Given the description of an element on the screen output the (x, y) to click on. 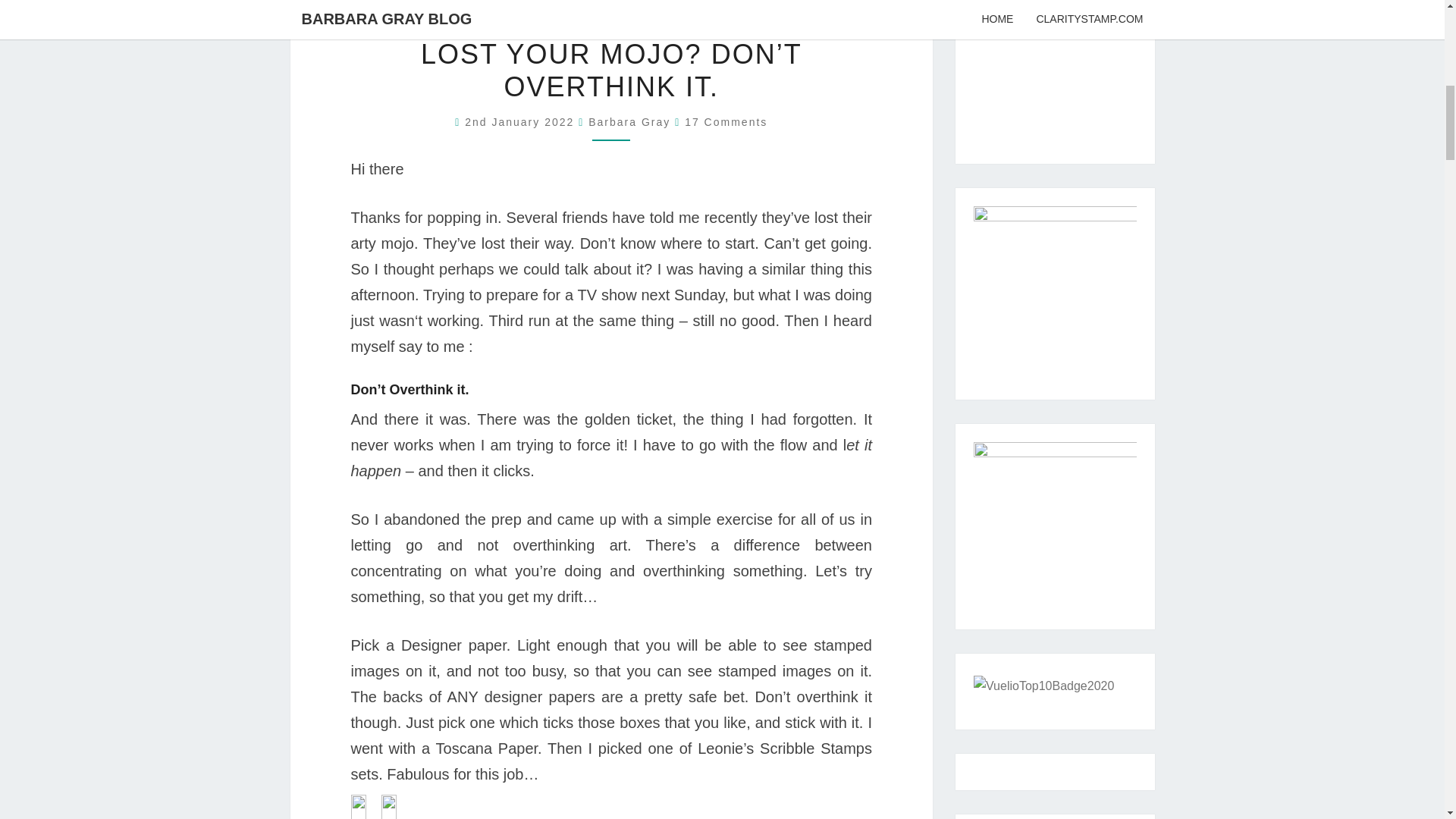
Barbara Gray (628, 121)
17 Comments (725, 121)
6:49 pm (521, 121)
2nd January 2022 (521, 121)
View all posts by Barbara Gray (628, 121)
